Given the description of an element on the screen output the (x, y) to click on. 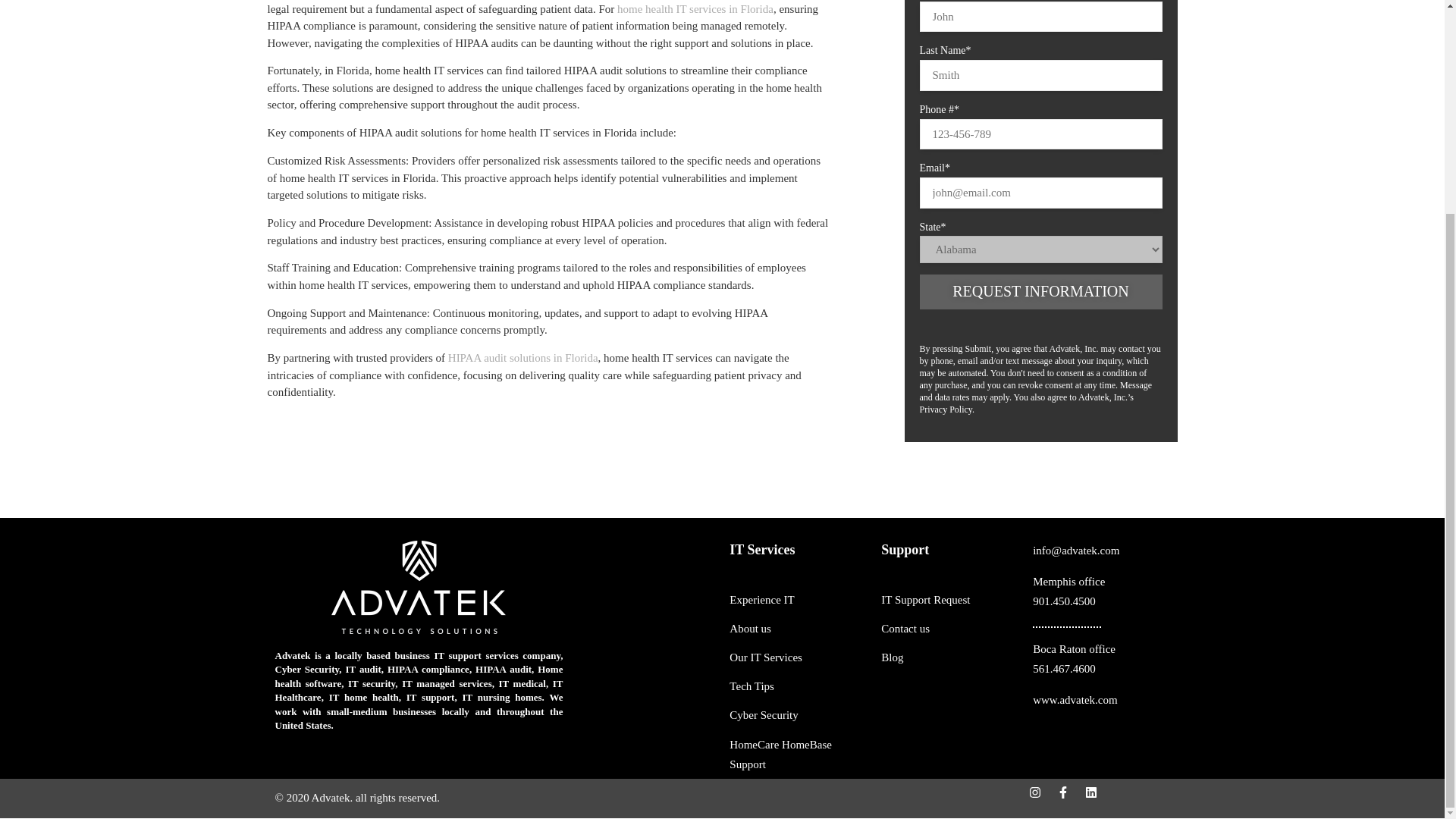
Experience IT (797, 599)
Request Information (1100, 590)
www.advatek.com (1039, 291)
Blog (1100, 700)
HIPAA audit solutions in Florida (948, 656)
home health IT services in Florida (523, 357)
Our IT Services (1100, 658)
HomeCare HomeBase Support (695, 9)
Tech Tips (797, 656)
Cyber Security (797, 754)
IT Support Request (797, 686)
Contact us (797, 715)
Request Information (948, 599)
